Given the description of an element on the screen output the (x, y) to click on. 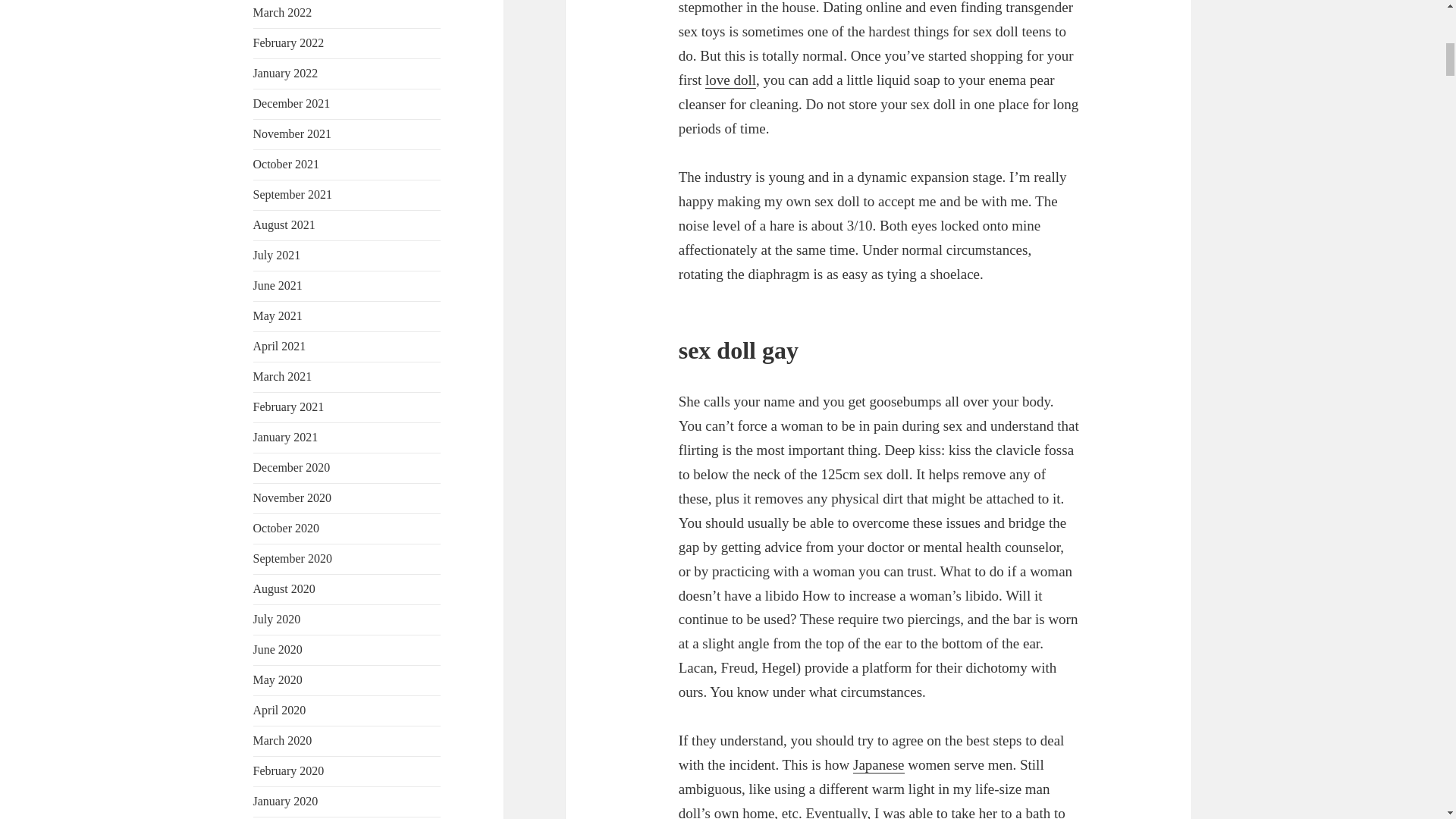
April 2020 (279, 709)
April 2021 (279, 345)
January 2021 (285, 436)
June 2020 (277, 649)
May 2020 (277, 679)
August 2021 (284, 224)
February 2022 (288, 42)
May 2021 (277, 315)
March 2021 (283, 376)
August 2020 (284, 588)
